Given the description of an element on the screen output the (x, y) to click on. 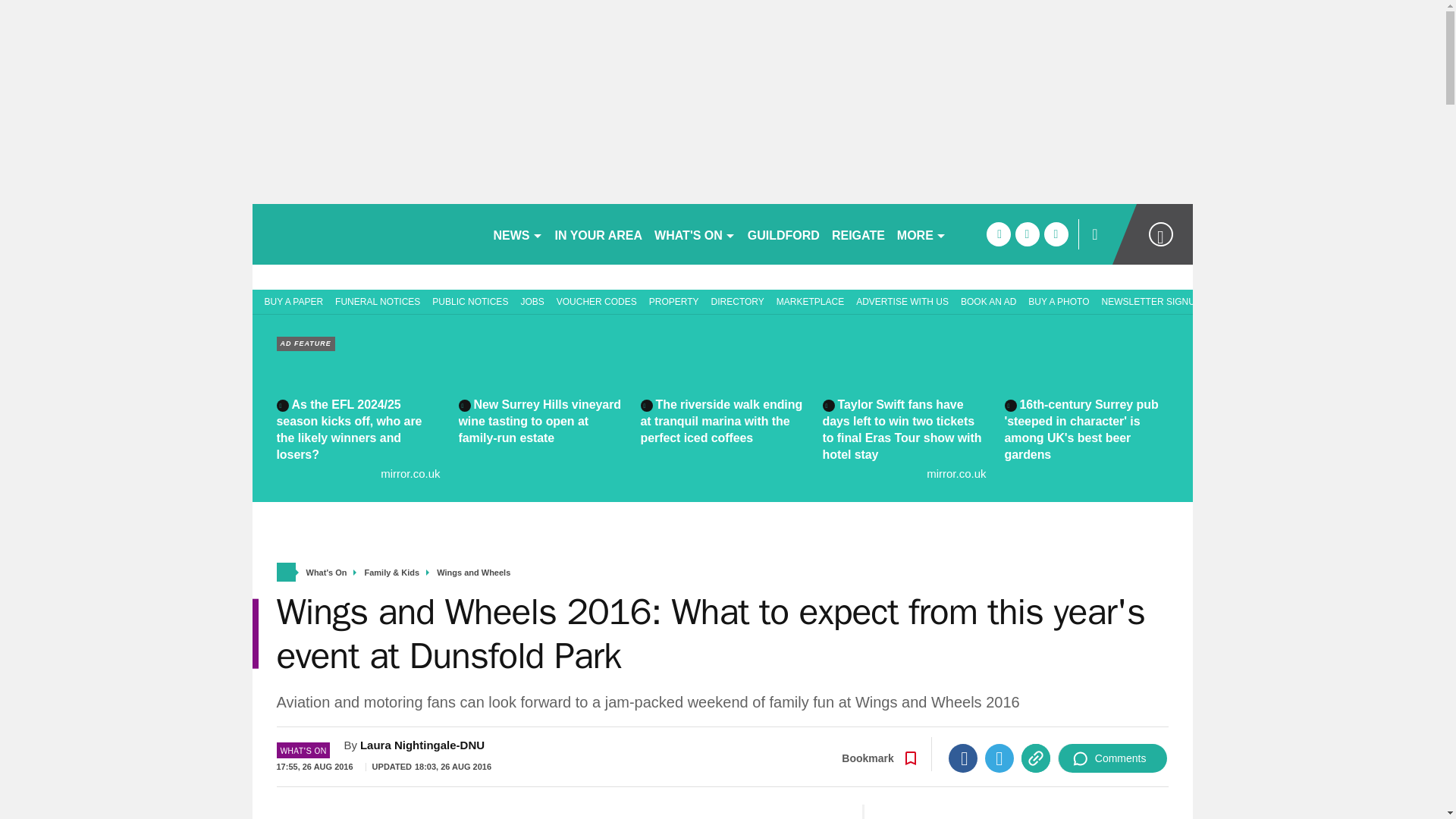
REIGATE (858, 233)
getsurrey (365, 233)
VOUCHER CODES (596, 300)
NEWS (517, 233)
MORE (921, 233)
GUILDFORD (783, 233)
twitter (1026, 233)
PROPERTY (673, 300)
WHAT'S ON (694, 233)
instagram (1055, 233)
